Given the description of an element on the screen output the (x, y) to click on. 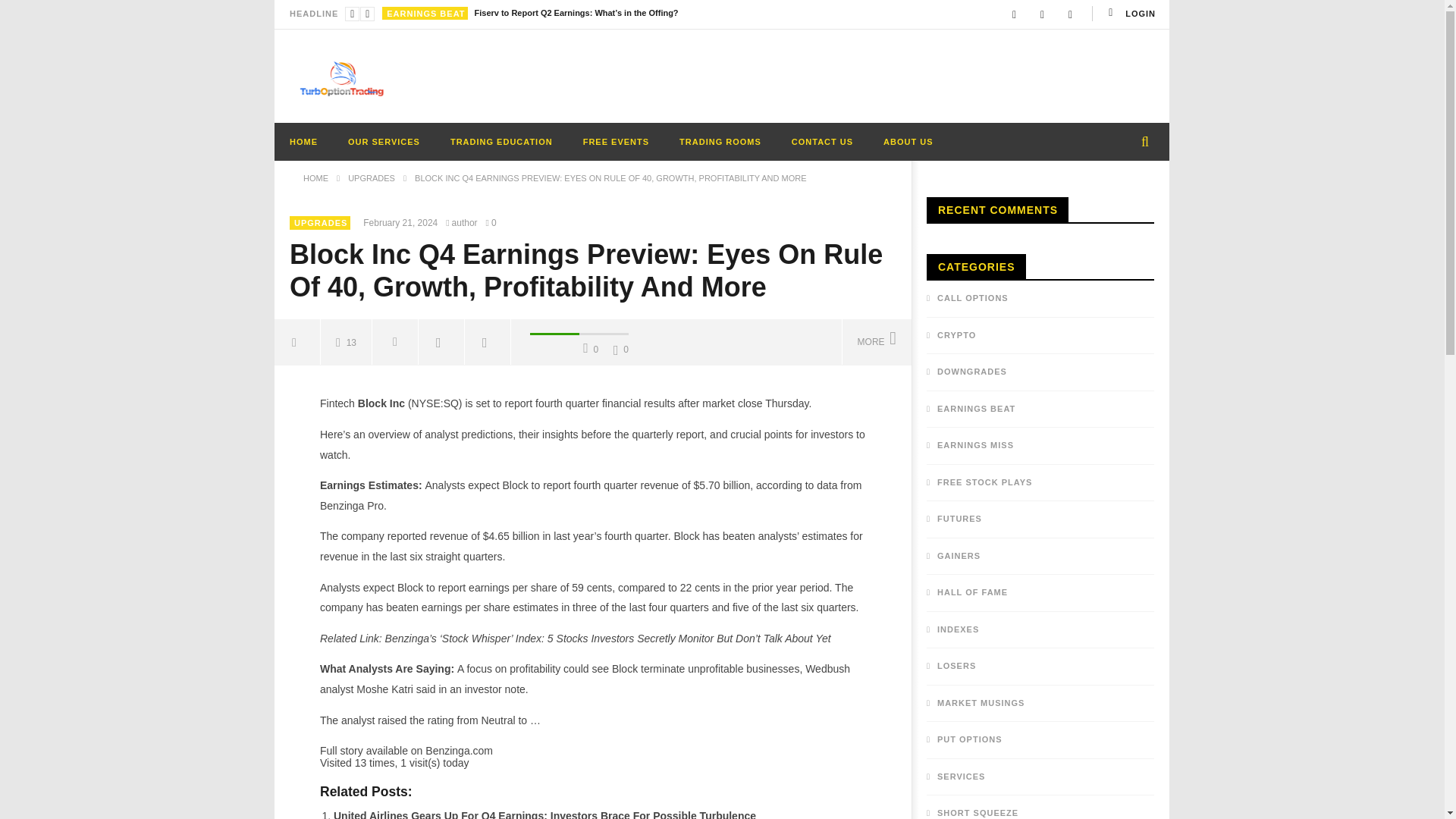
Twitter (1070, 14)
Facebook (1013, 14)
OUR SERVICES (384, 141)
EARNINGS BEAT (425, 13)
LOGIN (1130, 13)
HOME (304, 141)
TRADING EDUCATION (501, 141)
YouTube (1042, 14)
View all posts in Earnings Beat (425, 13)
FREE EVENTS (615, 141)
